Given the description of an element on the screen output the (x, y) to click on. 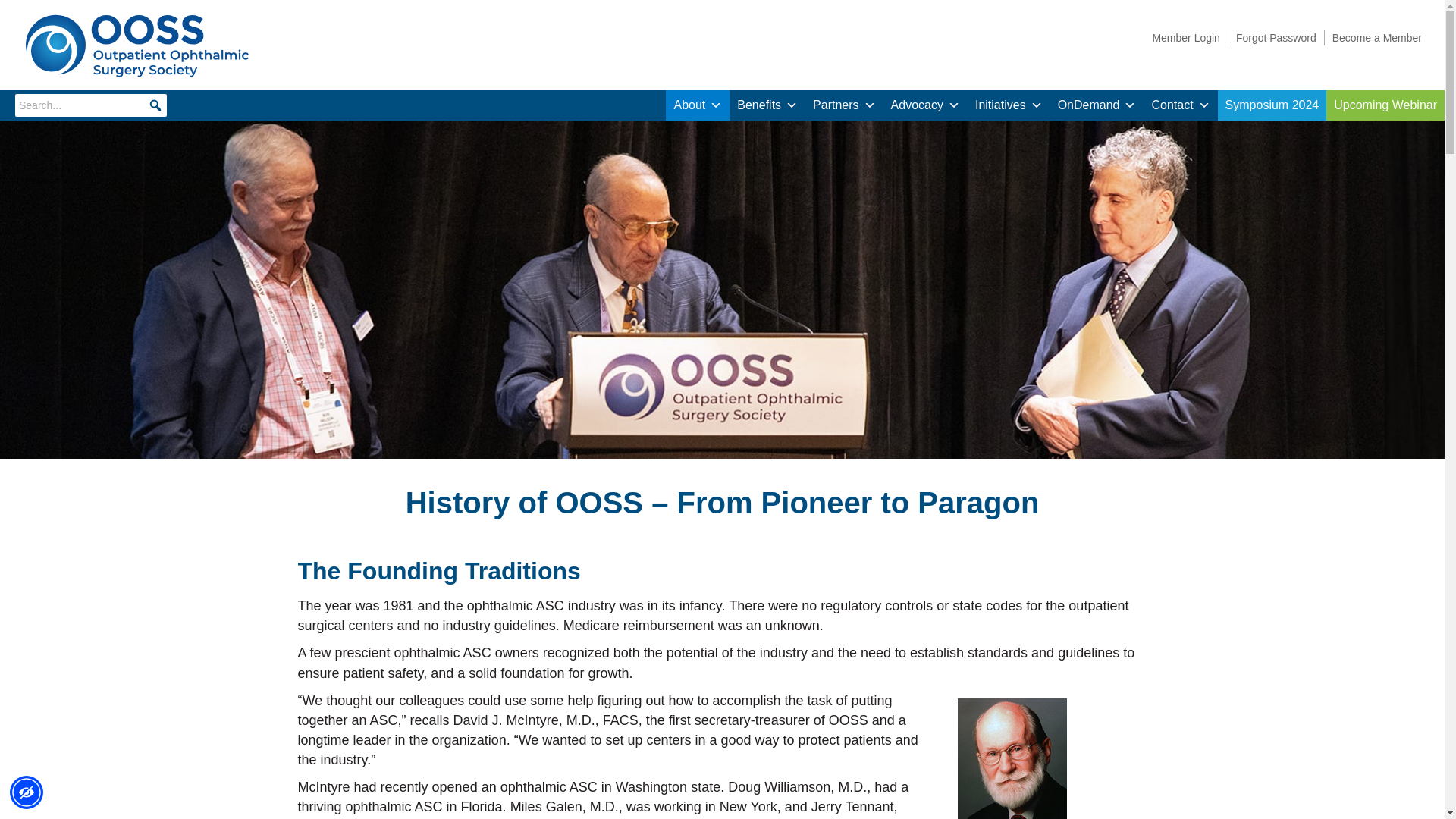
Advocacy (925, 105)
Partners (843, 105)
Accessibility Menu (26, 792)
David J McIntyre (1010, 758)
Become a Member (1376, 37)
OOSS-logo-svg (136, 44)
Initiatives (1008, 105)
Member Login (1185, 37)
Forgot Password (1275, 37)
About (697, 105)
